Given the description of an element on the screen output the (x, y) to click on. 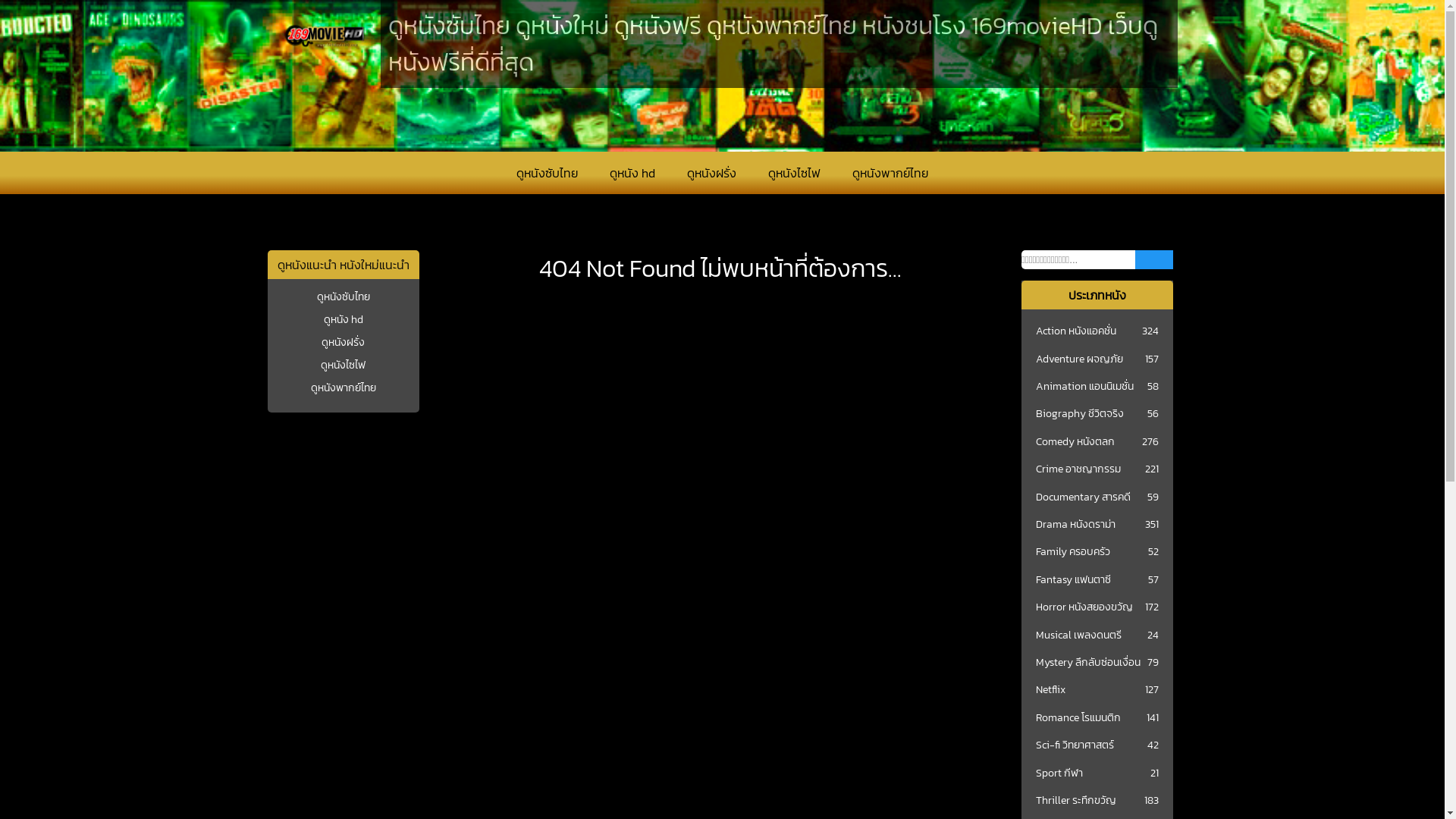
Netflix Element type: text (1050, 689)
